Given the description of an element on the screen output the (x, y) to click on. 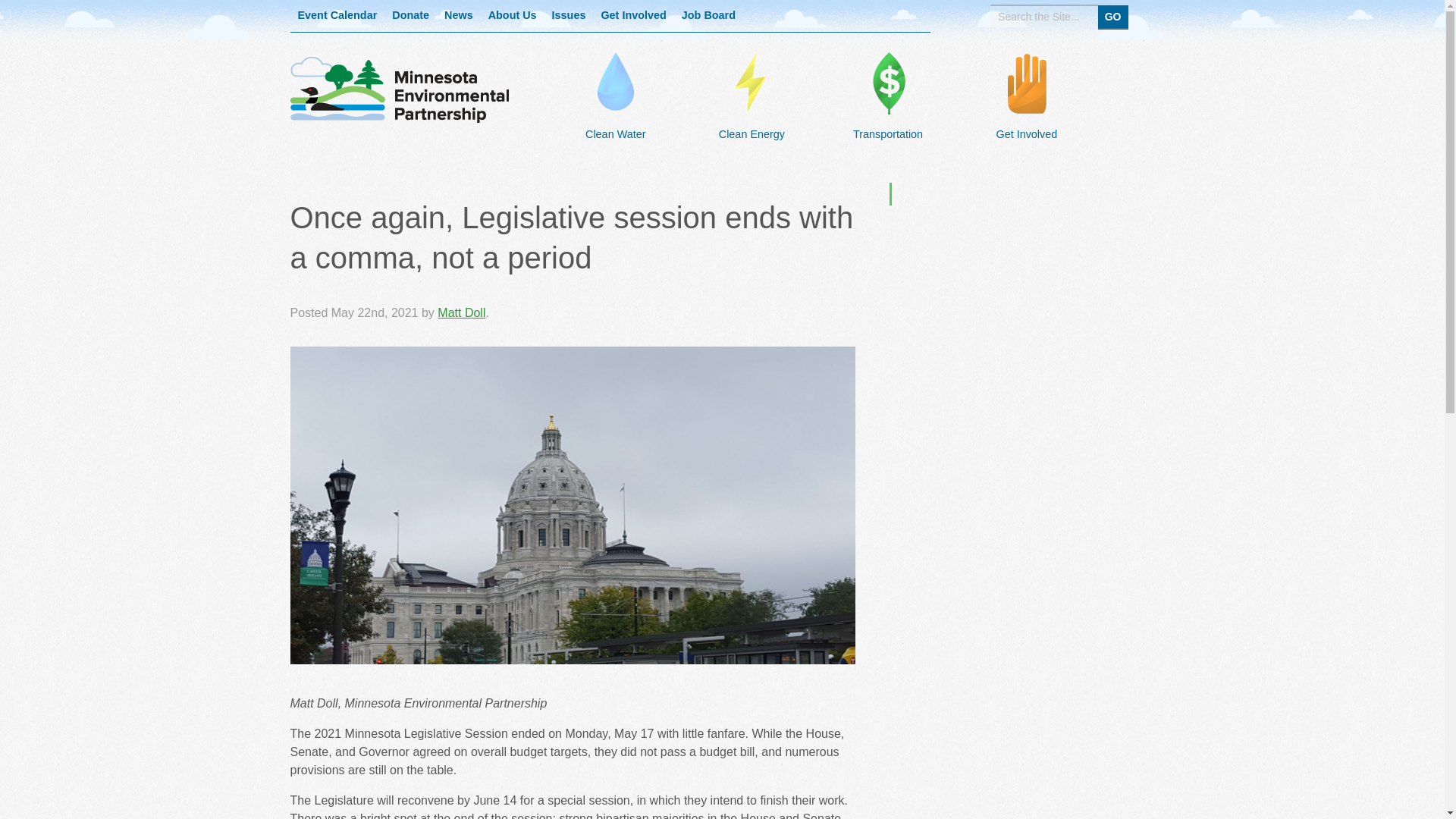
Clean Energy (751, 124)
Posts by Matt Doll (461, 312)
News (458, 15)
Clean Water (614, 124)
About Us (512, 15)
Get Involved (632, 15)
GO (1112, 15)
Issues (569, 15)
Get Involved (1026, 124)
Event Calendar (336, 15)
Matt Doll (461, 312)
Job Board (708, 15)
Transportation (887, 124)
Donate (410, 15)
